Given the description of an element on the screen output the (x, y) to click on. 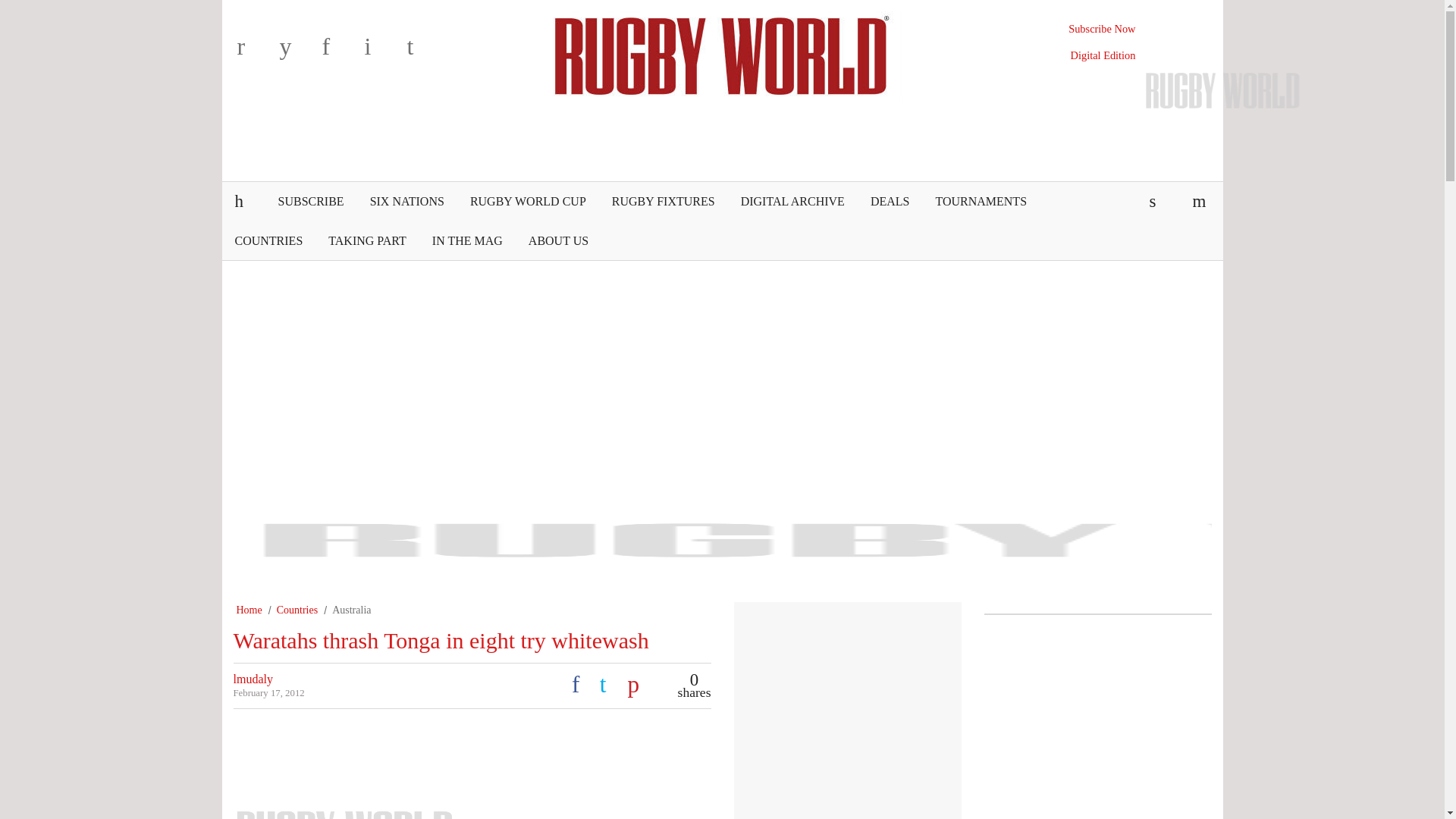
Rugby World (721, 53)
Subscribe Now (1101, 28)
y (297, 52)
Subscribe Now (1101, 28)
SIX NATIONS (406, 201)
RUGBY FIXTURES (663, 201)
SUBSCRIBE (310, 201)
TOURNAMENTS (980, 201)
DEALS (890, 201)
f (339, 52)
